Given the description of an element on the screen output the (x, y) to click on. 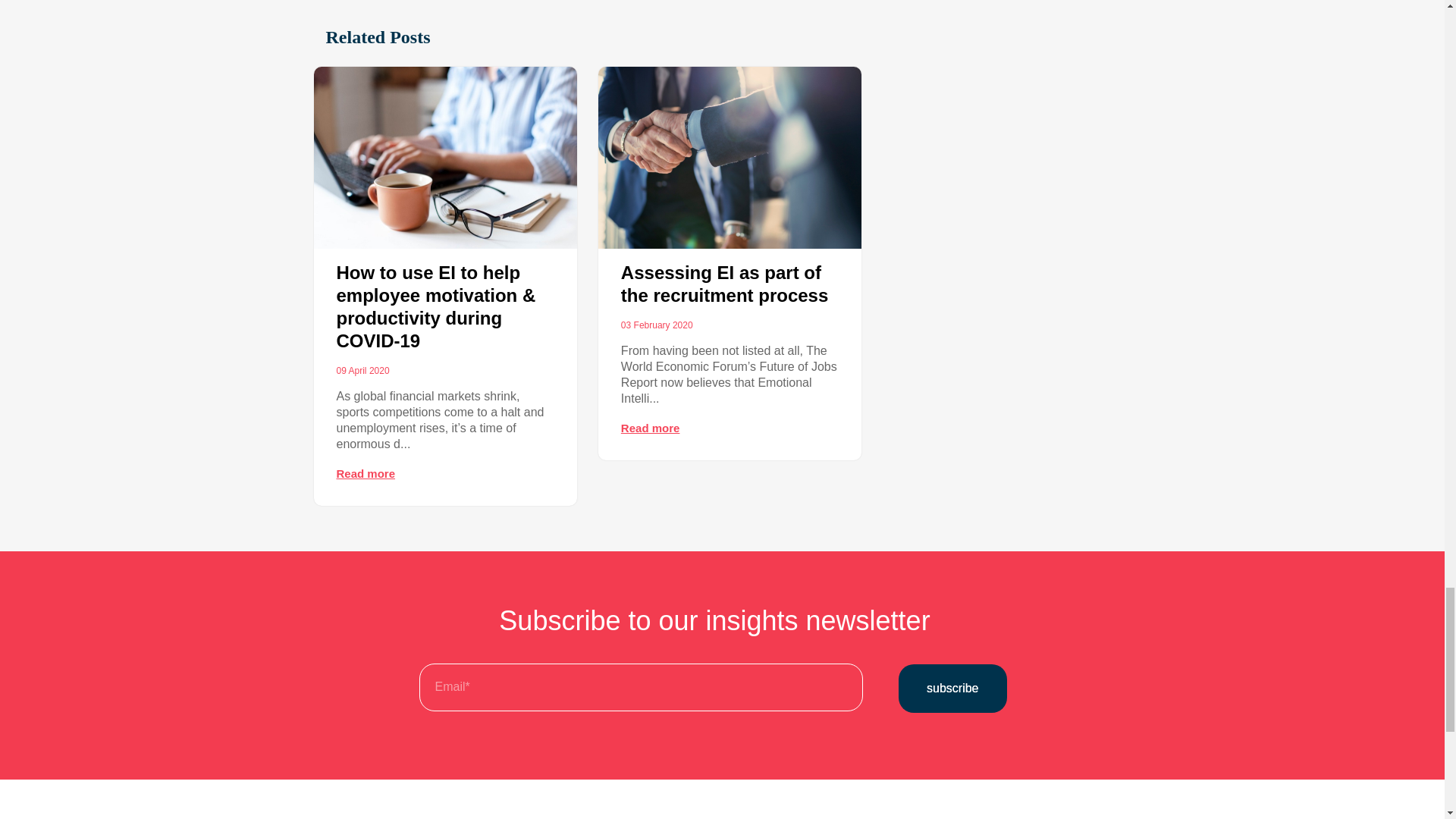
Assessing EI as part of the recruitment process (724, 283)
Subscribe (952, 688)
Read more (366, 472)
Read more (650, 427)
Subscribe (952, 688)
